Given the description of an element on the screen output the (x, y) to click on. 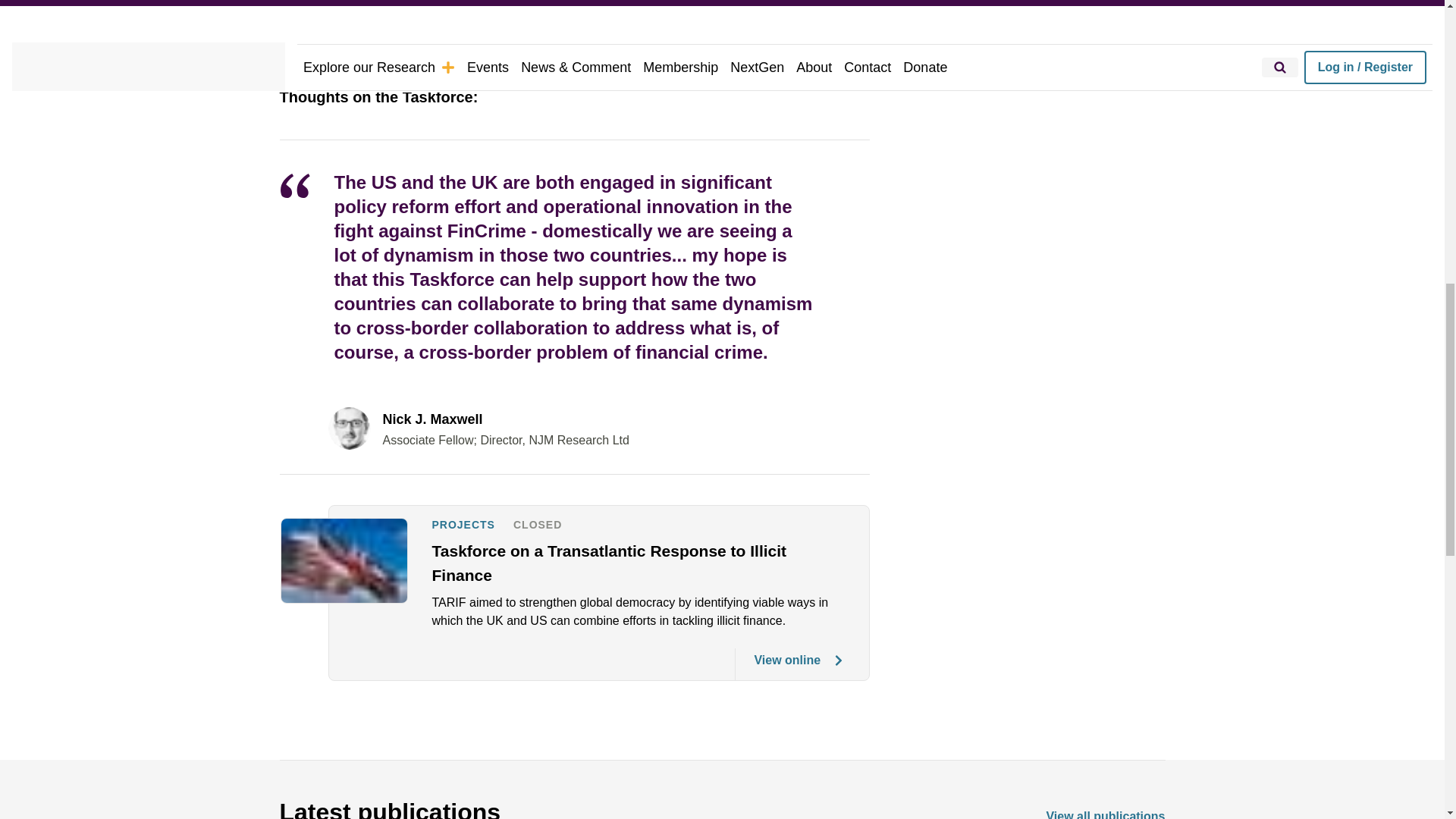
PROJECTS (463, 525)
View all publications (1104, 813)
View online (789, 664)
